Given the description of an element on the screen output the (x, y) to click on. 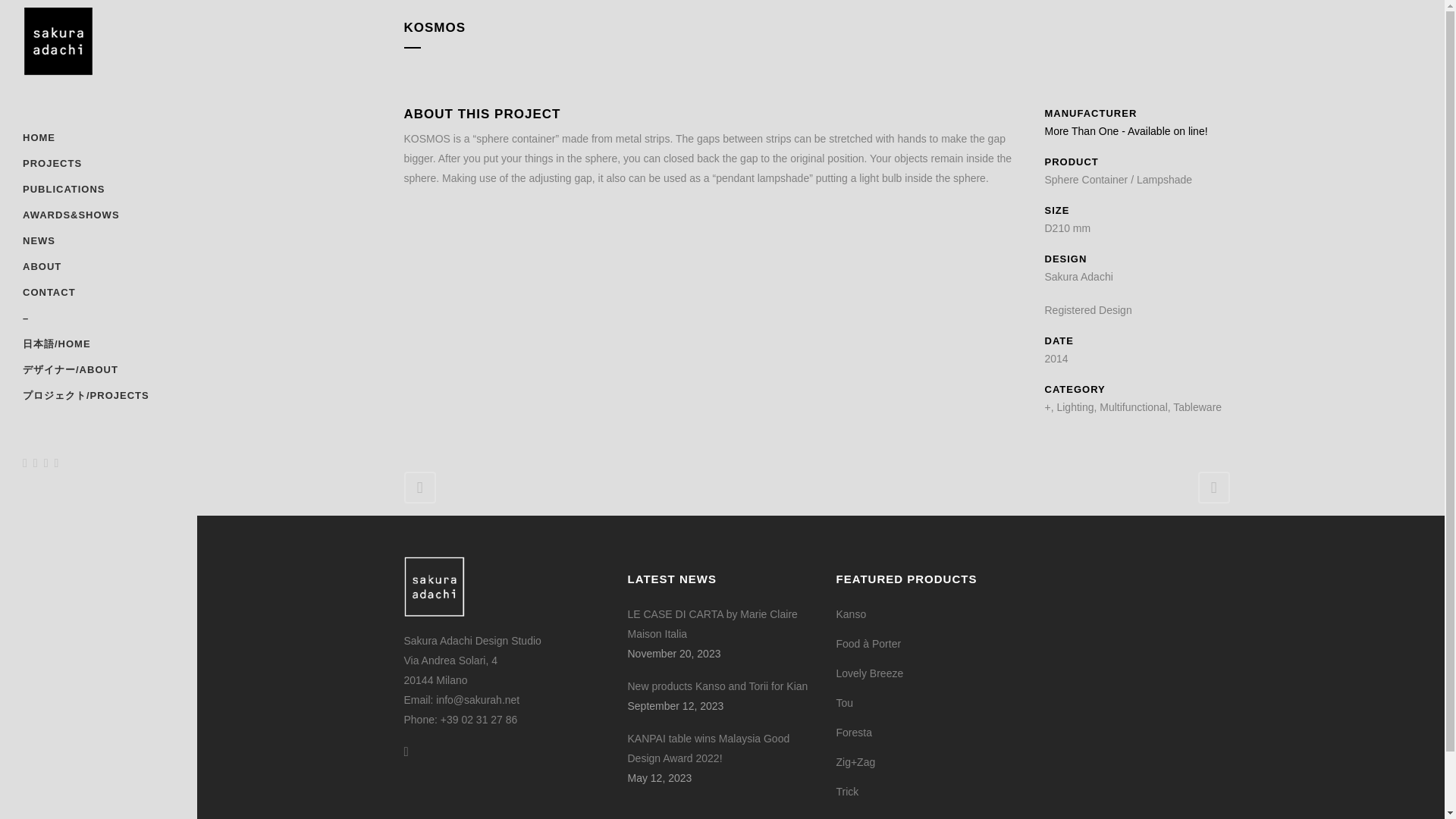
HOME (98, 137)
ABOUT (98, 266)
PROJECTS (98, 163)
NEWS (98, 240)
PUBLICATIONS (98, 189)
CONTACT (98, 292)
